Given the description of an element on the screen output the (x, y) to click on. 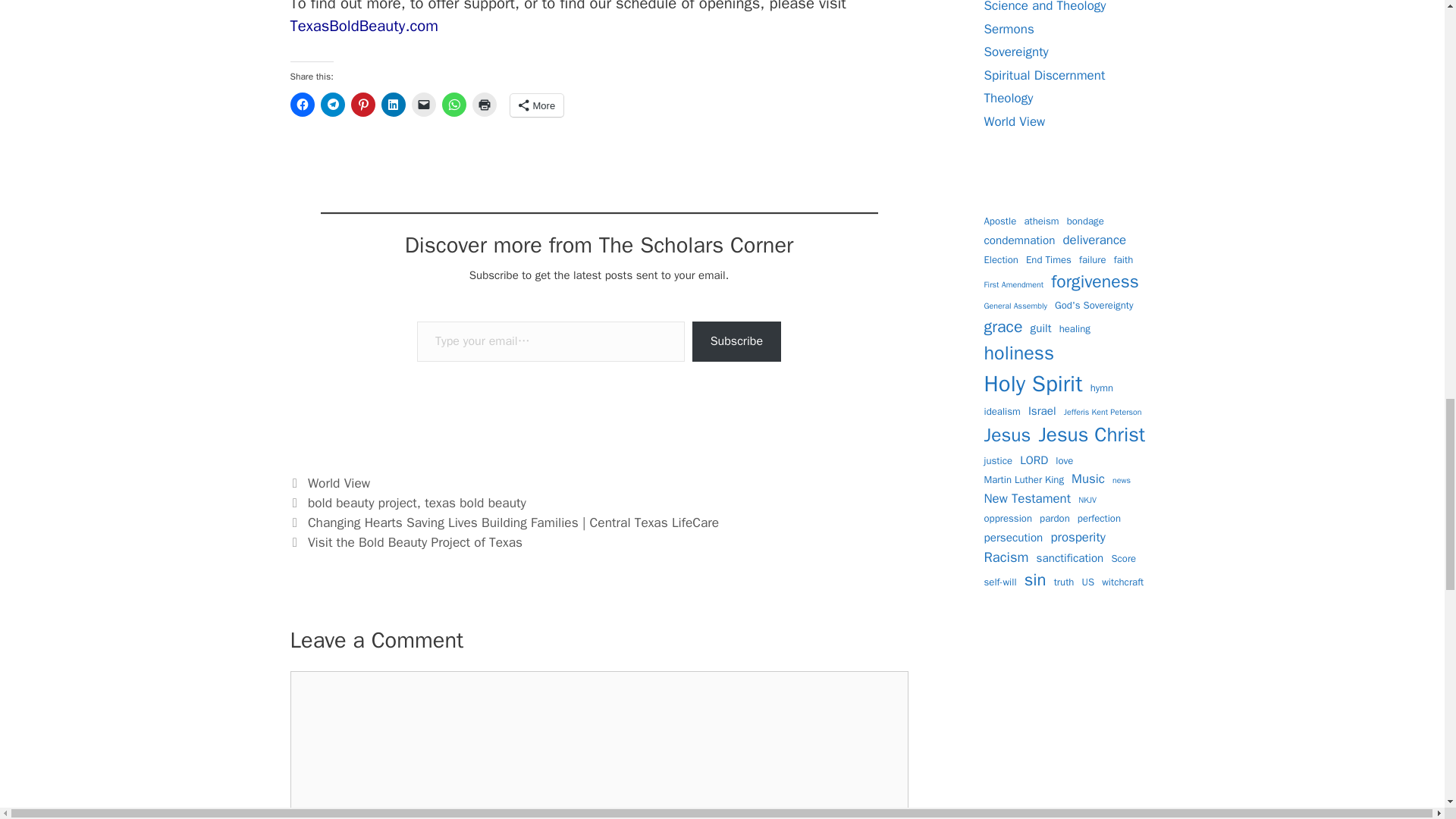
Click to email a link to a friend (422, 104)
Click to share on Facebook (301, 104)
Click to share on Pinterest (362, 104)
Click to share on WhatsApp (453, 104)
Click to share on LinkedIn (392, 104)
Click to share on Telegram (331, 104)
Click to print (483, 104)
